Given the description of an element on the screen output the (x, y) to click on. 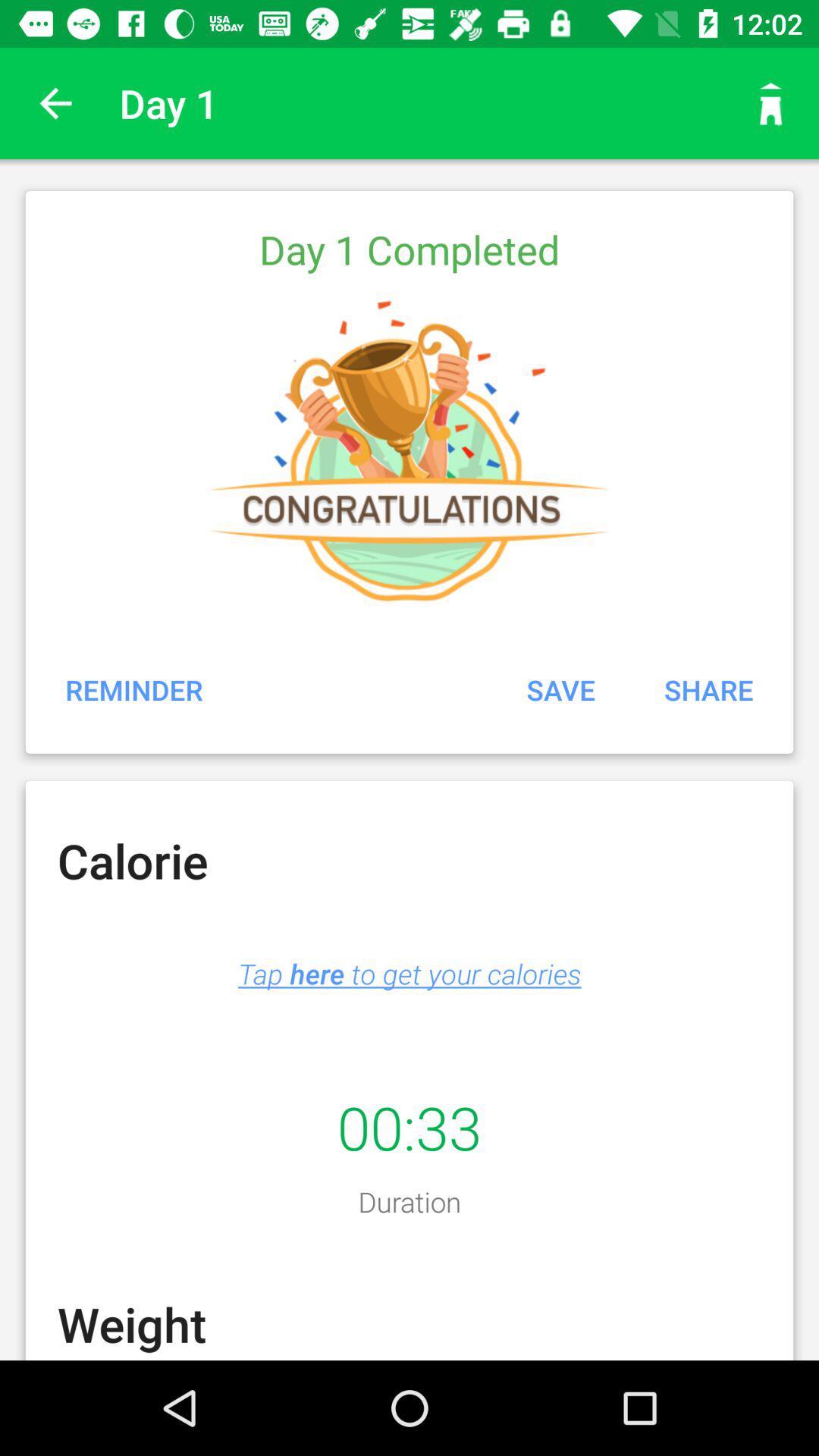
click item below the calorie icon (409, 973)
